Given the description of an element on the screen output the (x, y) to click on. 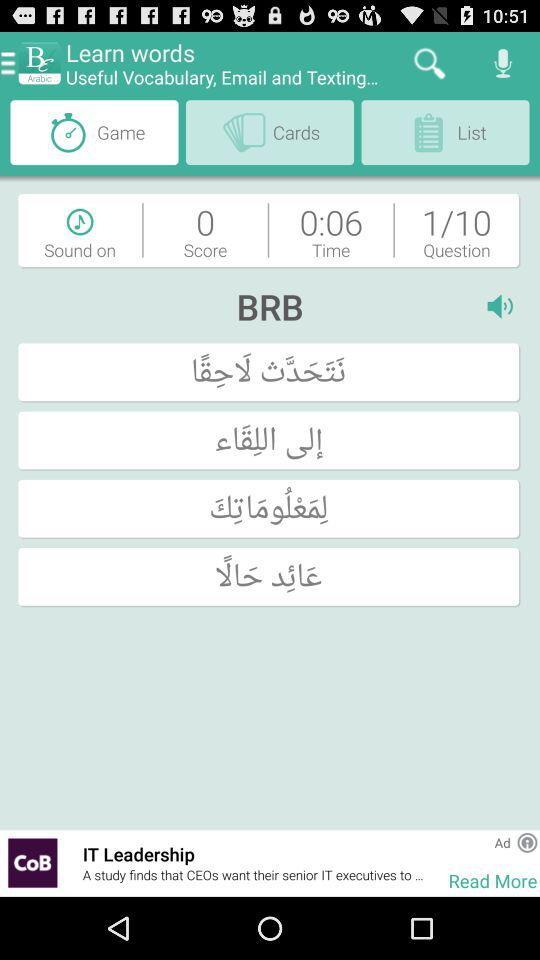
button of the attention (527, 842)
